Given the description of an element on the screen output the (x, y) to click on. 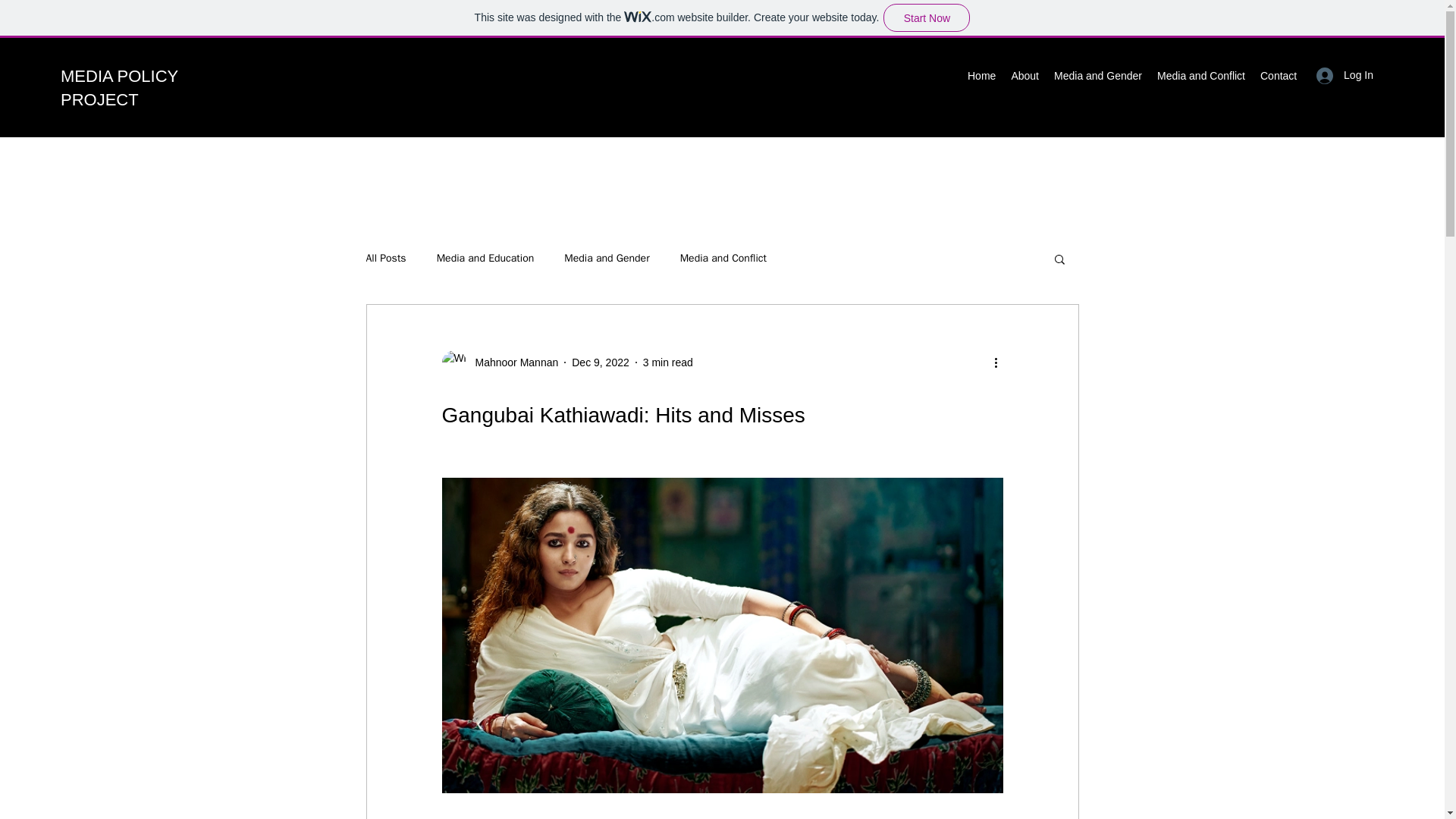
Media and Conflict (723, 258)
Media and Education (485, 258)
Log In (1345, 75)
Media and Gender (1098, 75)
Mahnoor Mannan (511, 362)
Media and Conflict (1201, 75)
Mahnoor Mannan (499, 362)
All Posts (385, 258)
Contact (1278, 75)
3 min read (668, 362)
About (1024, 75)
MEDIA POLICY PROJECT (119, 87)
Media and Gender (606, 258)
Home (981, 75)
Dec 9, 2022 (600, 362)
